Given the description of an element on the screen output the (x, y) to click on. 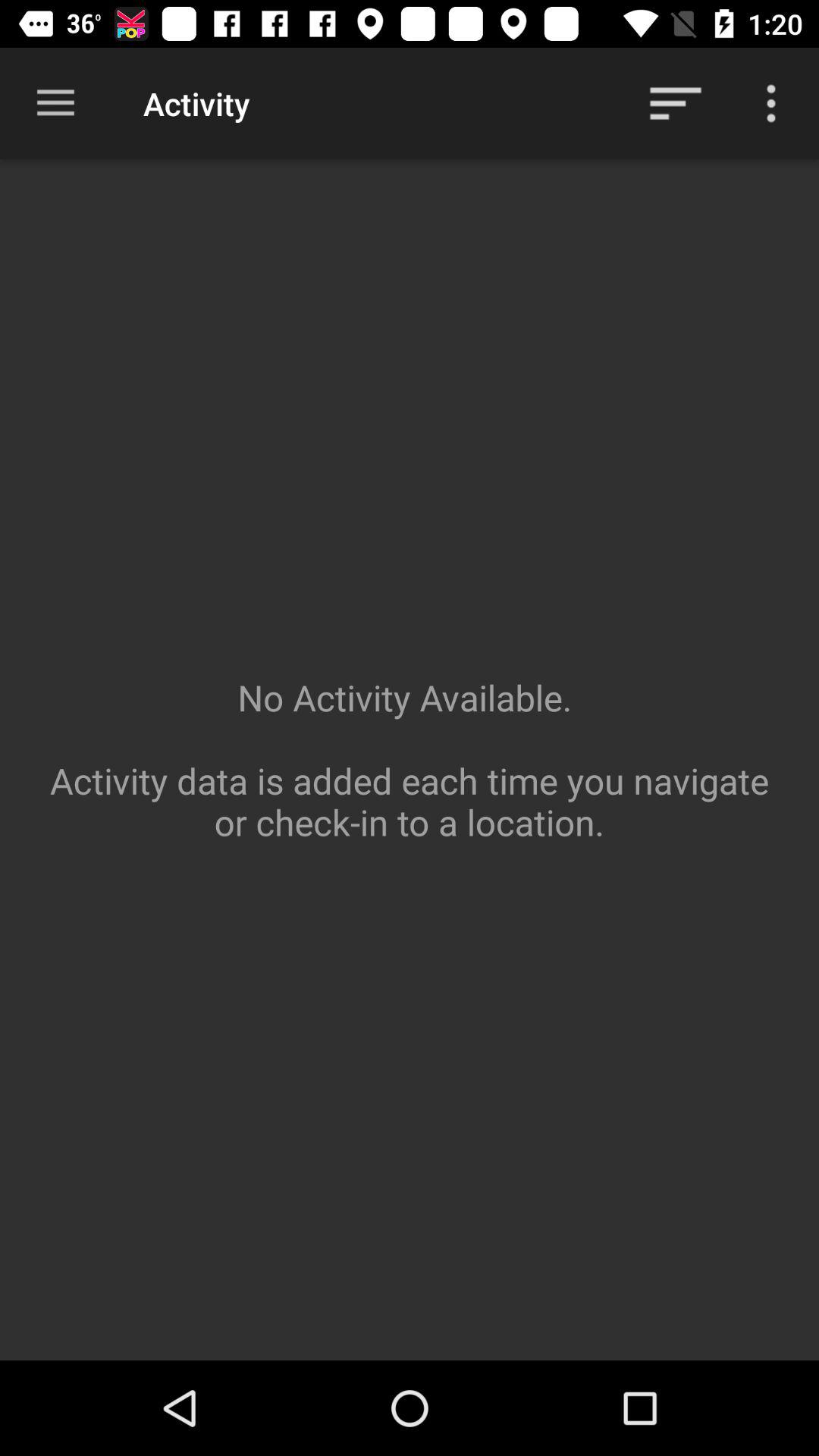
more options (771, 103)
